Given the description of an element on the screen output the (x, y) to click on. 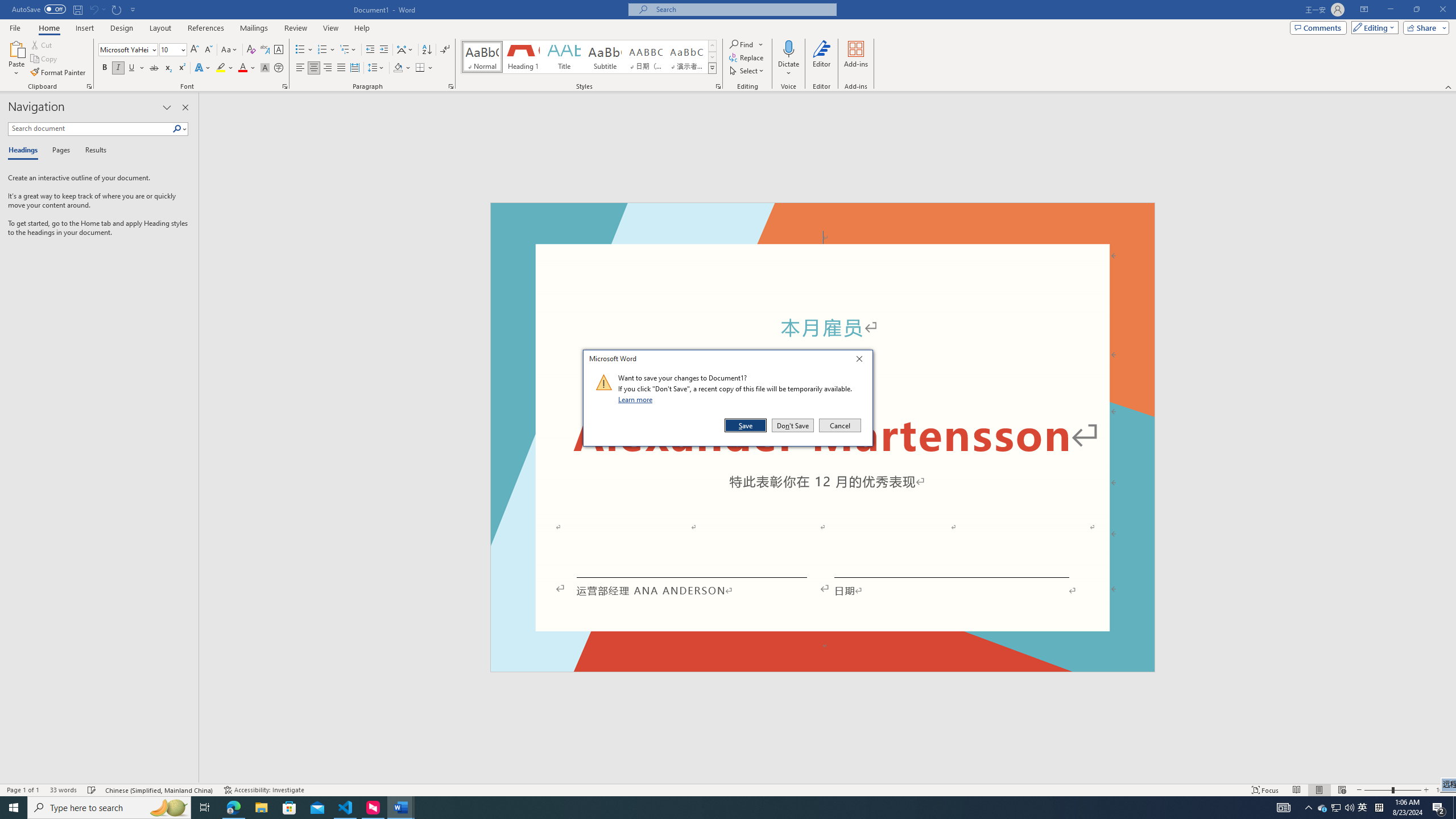
Row up (711, 45)
Microsoft Store (289, 807)
Notification Chevron (1308, 807)
Styles (711, 67)
Can't Undo (96, 9)
Mode (1372, 27)
Page Number Page 1 of 1 (22, 790)
Text Highlight Color (224, 67)
Increase Indent (383, 49)
